Given the description of an element on the screen output the (x, y) to click on. 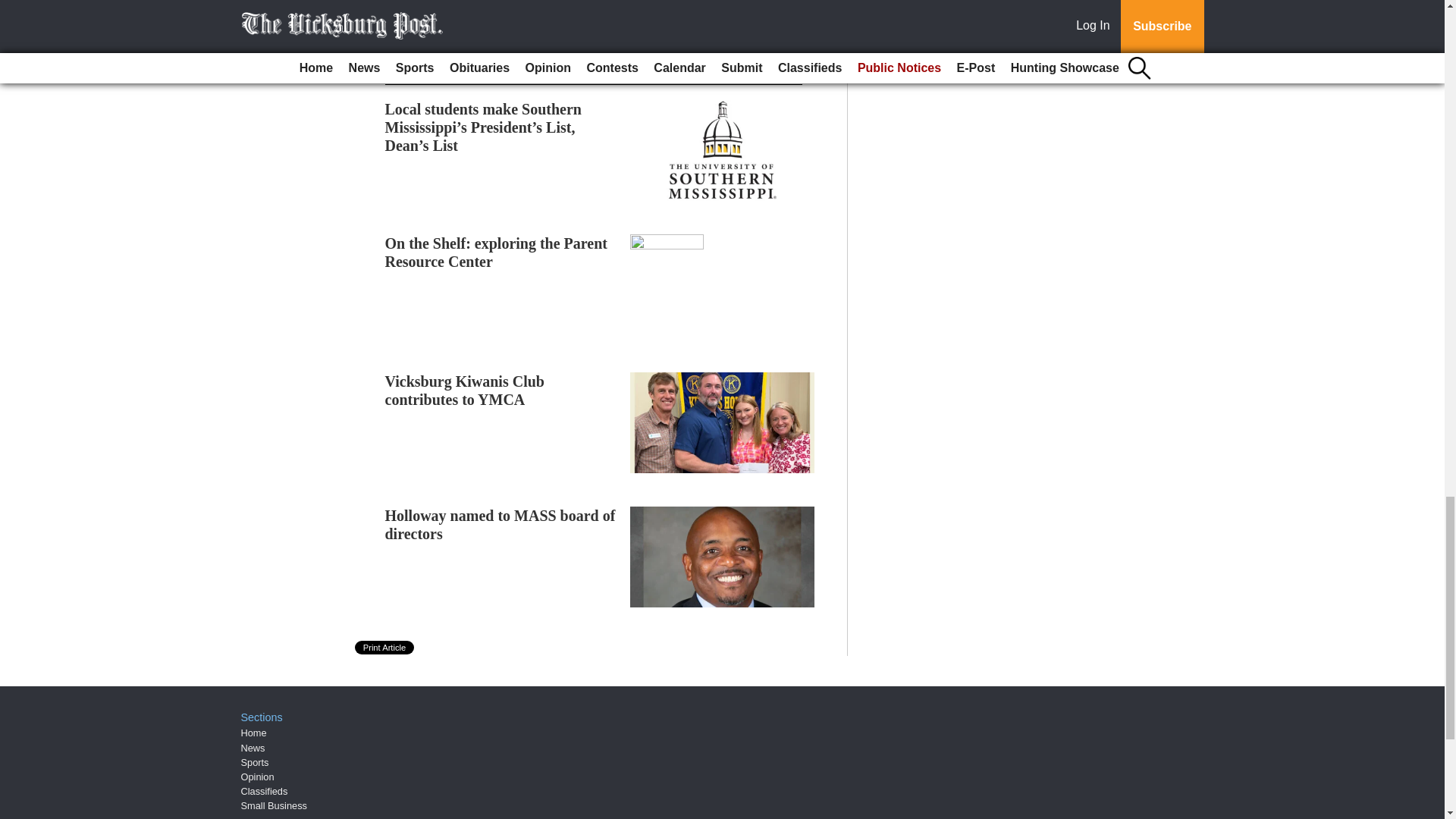
Vicksburg Kiwanis Club contributes to YMCA (464, 390)
On the Shelf: exploring the Parent Resource Center (496, 252)
More by John (435, 25)
Vicksburg Kiwanis Club contributes to YMCA (464, 390)
On the Shelf: exploring the Parent Resource Center (496, 252)
Holloway named to MASS board of directors (500, 524)
